Given the description of an element on the screen output the (x, y) to click on. 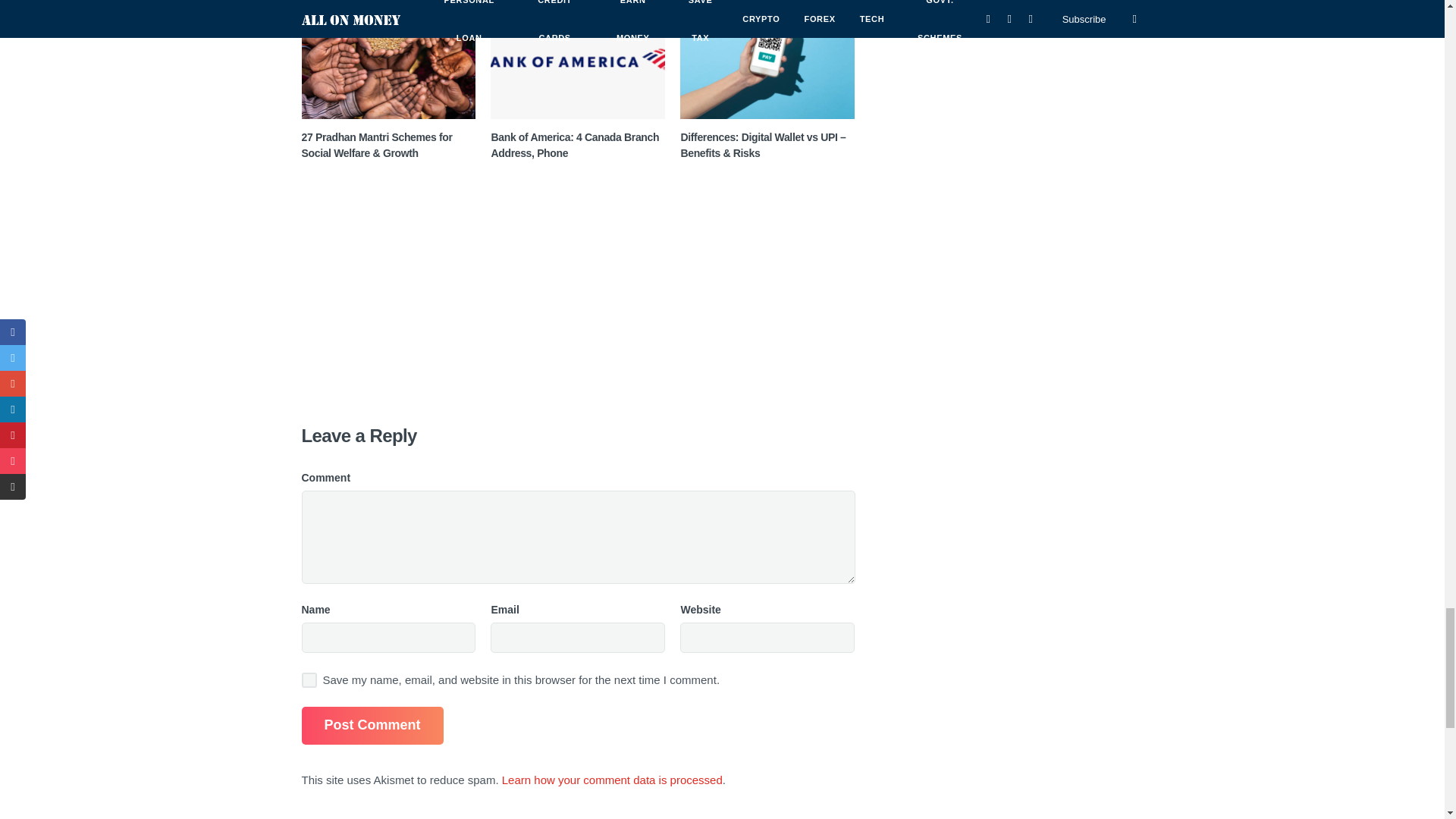
yes (309, 679)
Post Comment (372, 725)
